Given the description of an element on the screen output the (x, y) to click on. 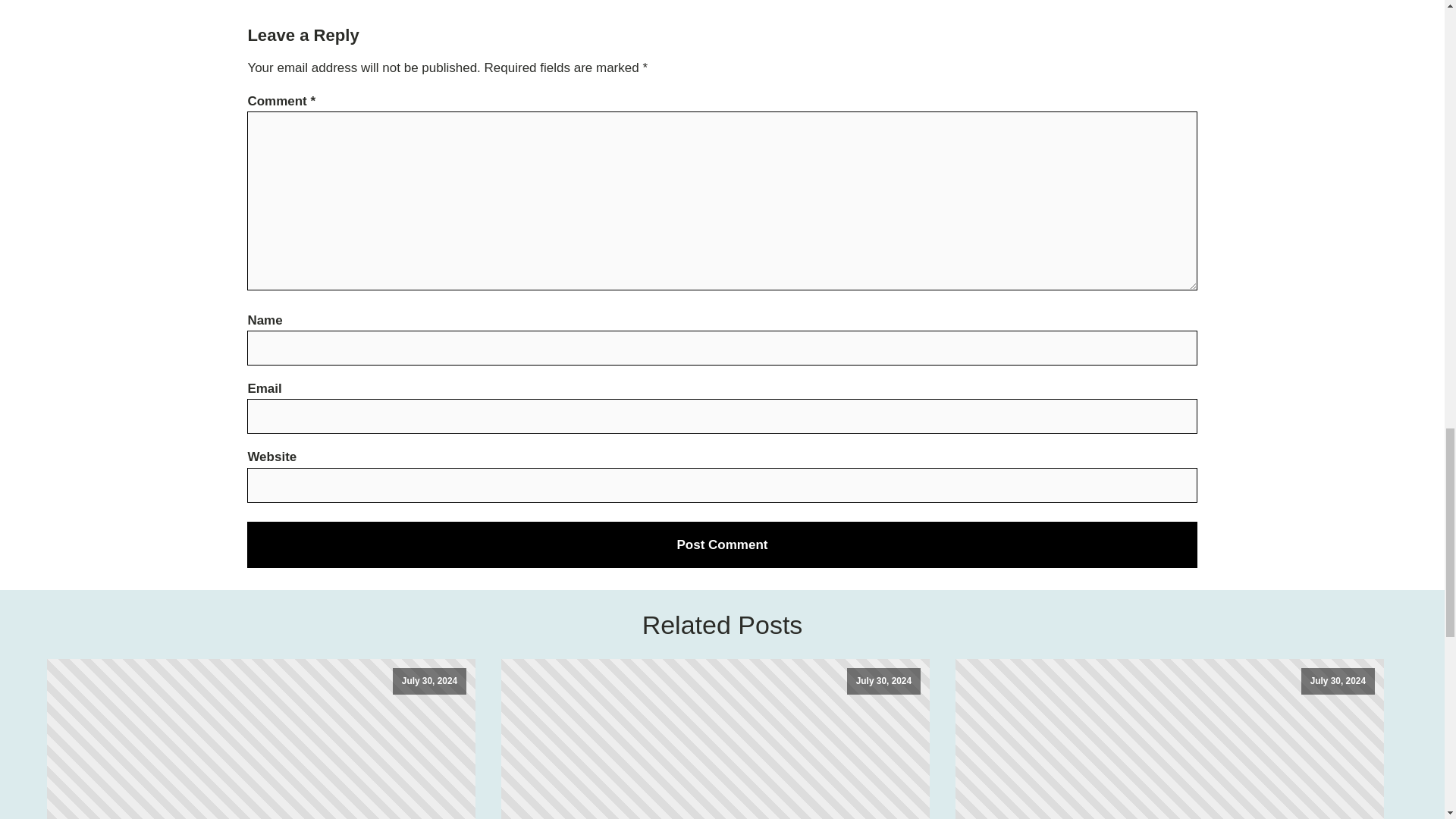
Post Comment (721, 544)
